Given the description of an element on the screen output the (x, y) to click on. 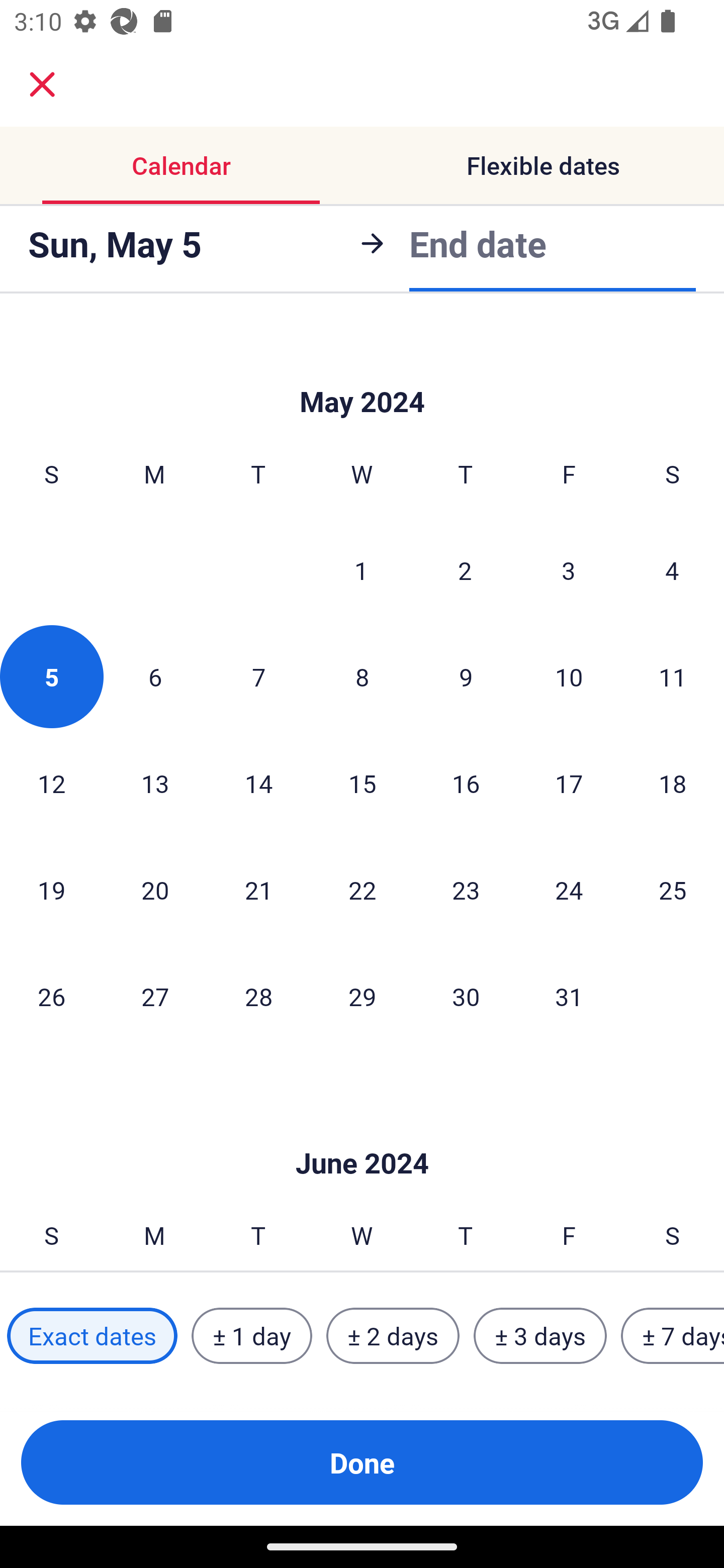
close. (42, 84)
Flexible dates (542, 164)
End date (477, 243)
Skip to Done (362, 371)
1 Wednesday, May 1, 2024 (361, 569)
2 Thursday, May 2, 2024 (464, 569)
3 Friday, May 3, 2024 (568, 569)
4 Saturday, May 4, 2024 (672, 569)
6 Monday, May 6, 2024 (155, 676)
7 Tuesday, May 7, 2024 (258, 676)
8 Wednesday, May 8, 2024 (362, 676)
9 Thursday, May 9, 2024 (465, 676)
10 Friday, May 10, 2024 (569, 676)
11 Saturday, May 11, 2024 (672, 676)
12 Sunday, May 12, 2024 (51, 783)
13 Monday, May 13, 2024 (155, 783)
14 Tuesday, May 14, 2024 (258, 783)
15 Wednesday, May 15, 2024 (362, 783)
16 Thursday, May 16, 2024 (465, 783)
17 Friday, May 17, 2024 (569, 783)
18 Saturday, May 18, 2024 (672, 783)
19 Sunday, May 19, 2024 (51, 889)
20 Monday, May 20, 2024 (155, 889)
21 Tuesday, May 21, 2024 (258, 889)
22 Wednesday, May 22, 2024 (362, 889)
23 Thursday, May 23, 2024 (465, 889)
24 Friday, May 24, 2024 (569, 889)
25 Saturday, May 25, 2024 (672, 889)
26 Sunday, May 26, 2024 (51, 996)
27 Monday, May 27, 2024 (155, 996)
28 Tuesday, May 28, 2024 (258, 996)
29 Wednesday, May 29, 2024 (362, 996)
30 Thursday, May 30, 2024 (465, 996)
31 Friday, May 31, 2024 (569, 996)
Skip to Done (362, 1133)
Exact dates (92, 1335)
± 1 day (251, 1335)
± 2 days (392, 1335)
± 3 days (539, 1335)
± 7 days (672, 1335)
Done (361, 1462)
